Given the description of an element on the screen output the (x, y) to click on. 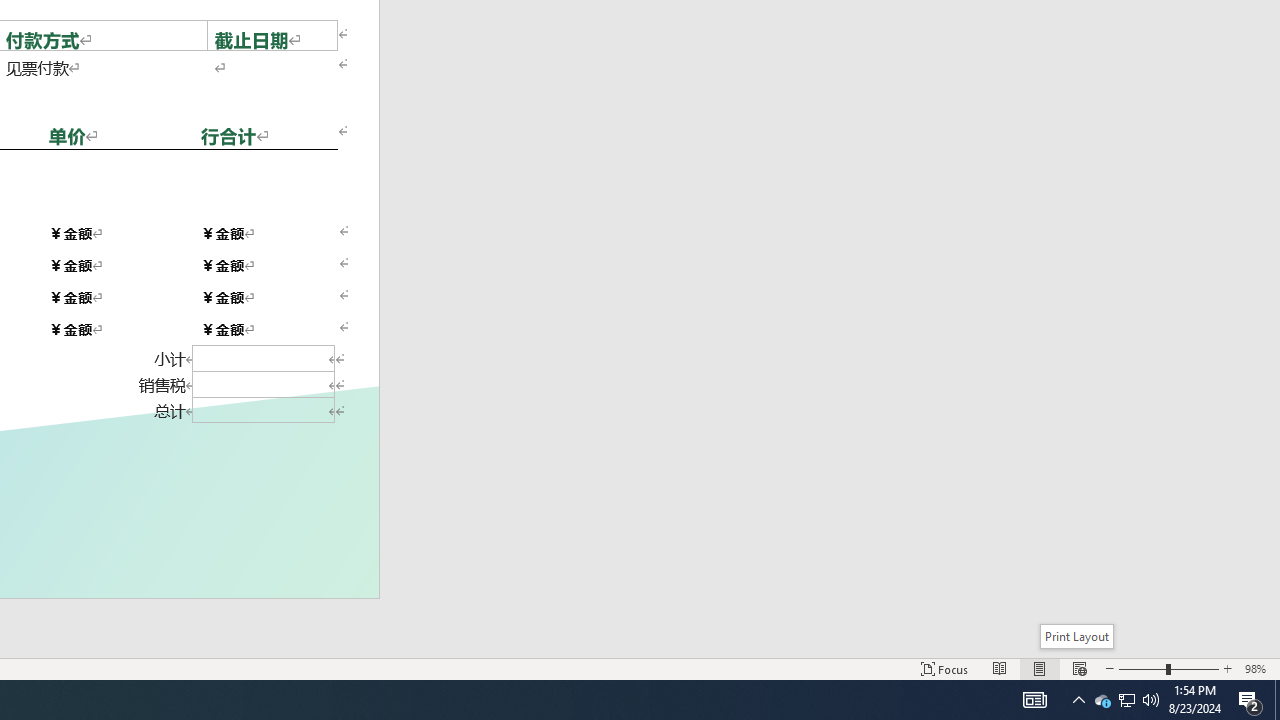
Zoom 98% (1258, 668)
Zoom (1168, 668)
